Given the description of an element on the screen output the (x, y) to click on. 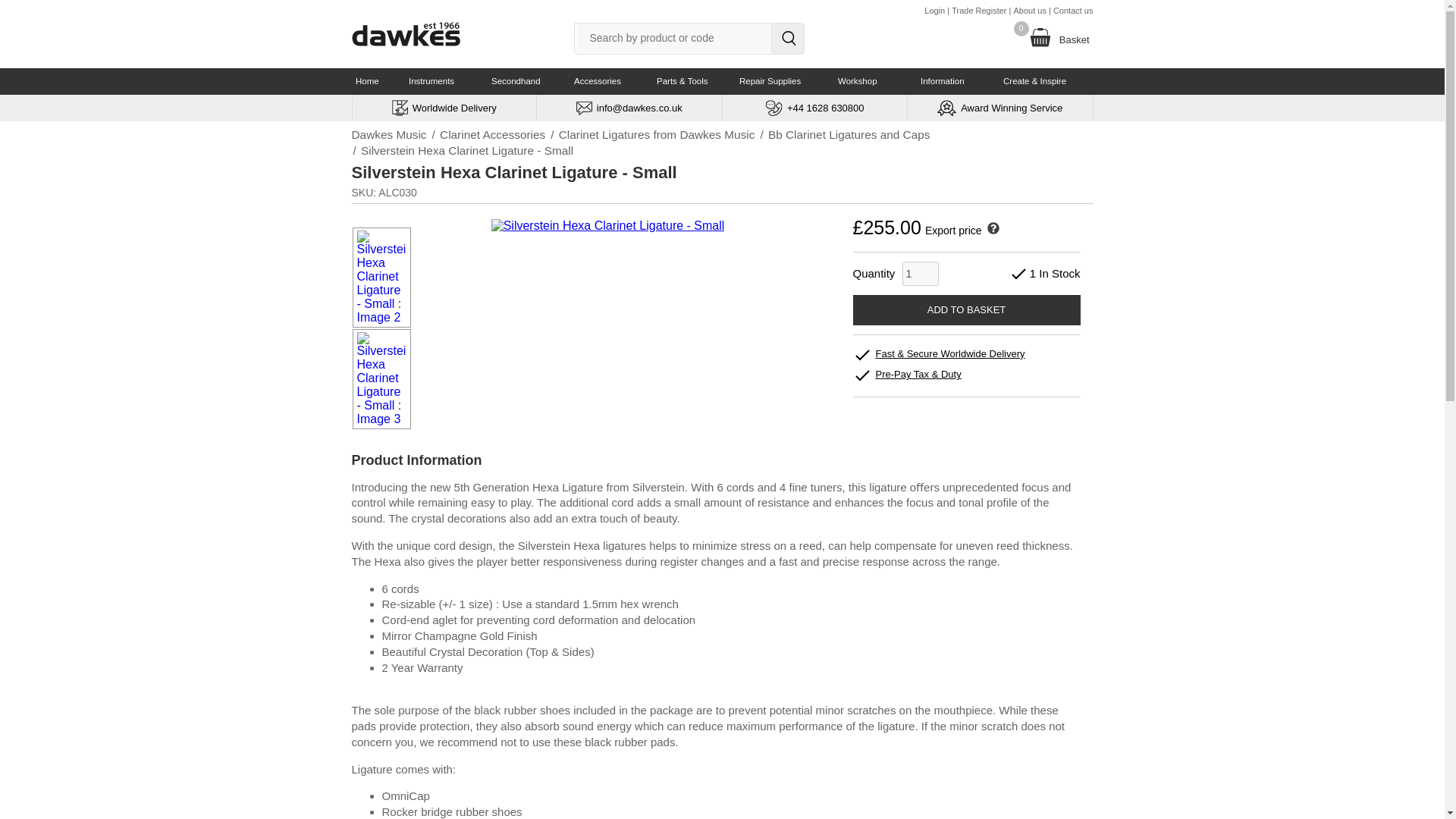
1 (920, 273)
Click to view full size image (382, 317)
Click for Export information (991, 230)
About us (1029, 10)
Home (375, 81)
Click to view full size image (608, 225)
Contact us (1072, 10)
Login (934, 10)
Add to basket (965, 309)
Trade Register (979, 10)
Instruments (442, 81)
